Given the description of an element on the screen output the (x, y) to click on. 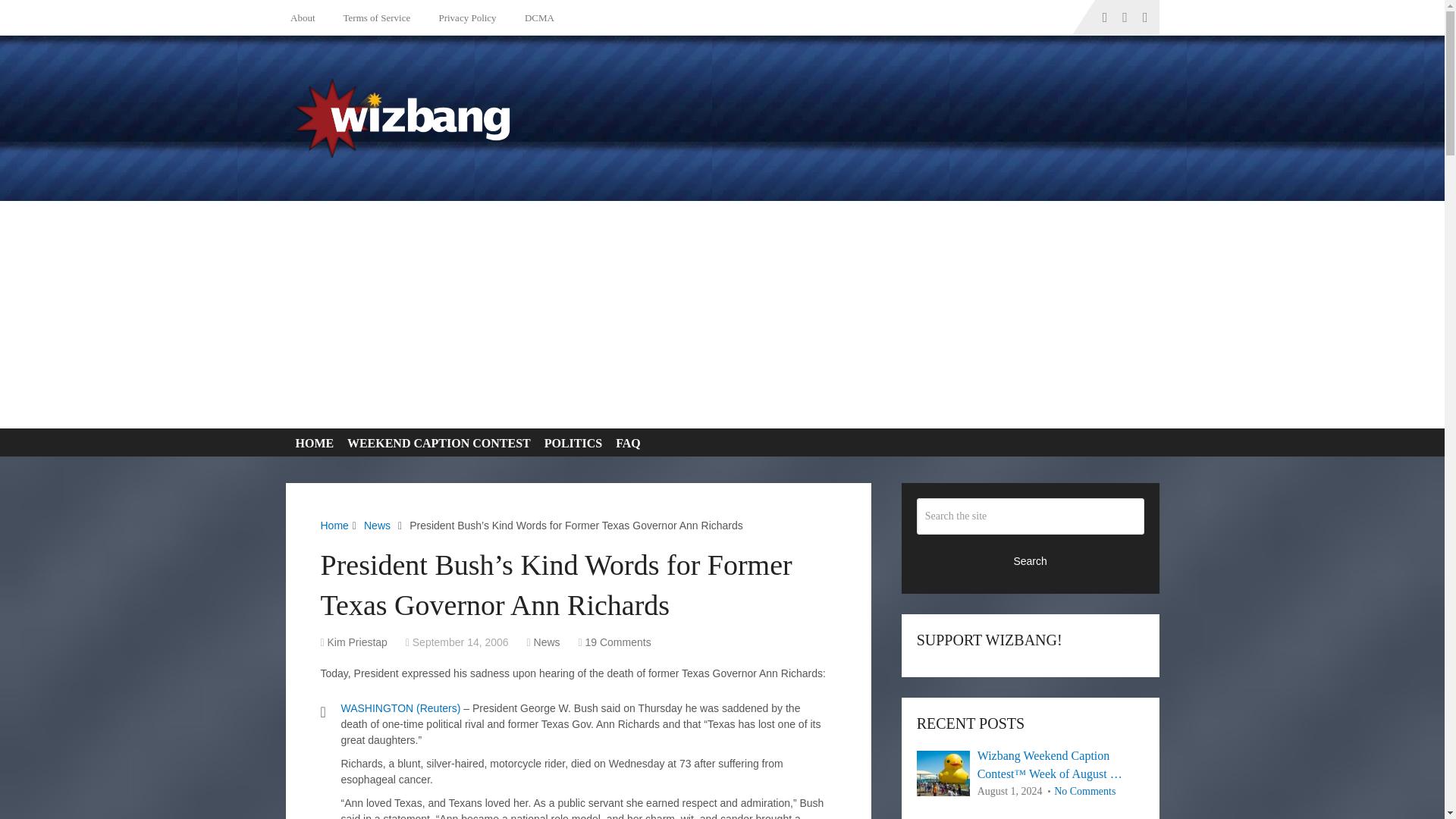
Kim Priestap (357, 642)
Posts by Kim Priestap (357, 642)
19 Comments (617, 642)
WEEKEND CAPTION CONTEST (435, 443)
Terms of Service (374, 17)
DCMA (537, 17)
HOME (311, 443)
News (547, 642)
View all posts in News (547, 642)
Search (1030, 560)
Home (333, 525)
News (377, 525)
FAQ (625, 443)
About (305, 17)
